Given the description of an element on the screen output the (x, y) to click on. 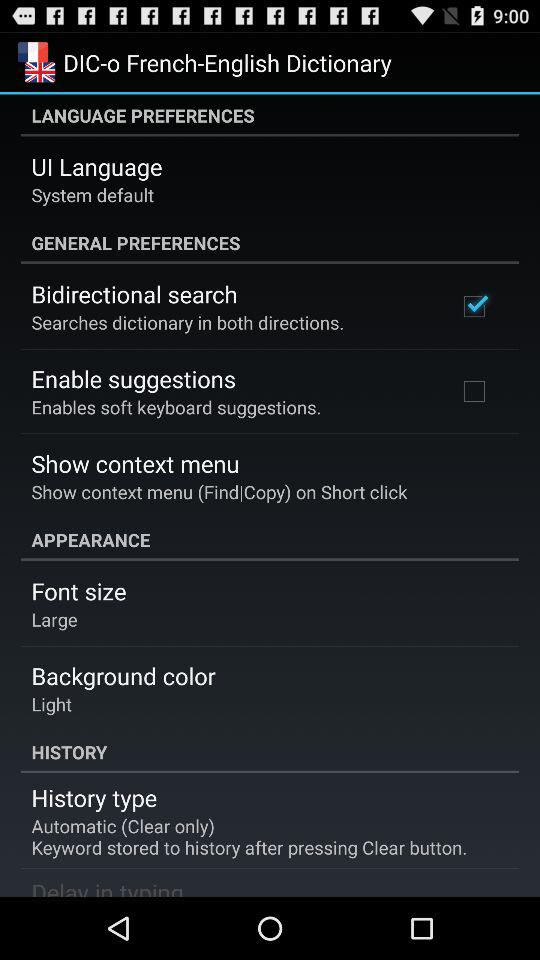
choose the system default icon (92, 194)
